Given the description of an element on the screen output the (x, y) to click on. 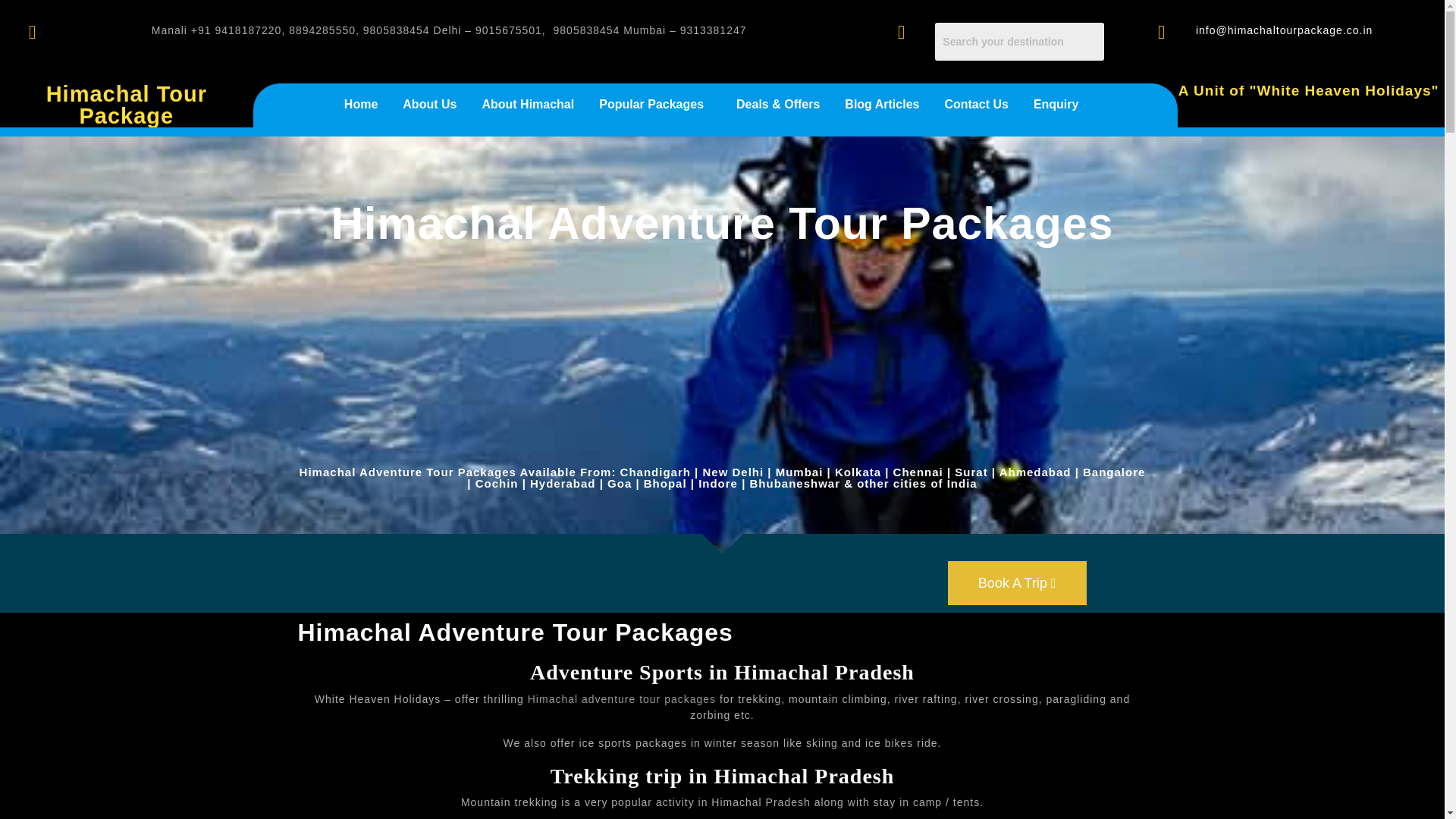
Book A Trip (1016, 583)
Enquiry (1056, 103)
About Us (429, 103)
Blog Articles (881, 103)
Home (360, 103)
Popular Packages (655, 103)
Contact Us (975, 103)
Search (1018, 41)
About Himachal (527, 103)
